Given the description of an element on the screen output the (x, y) to click on. 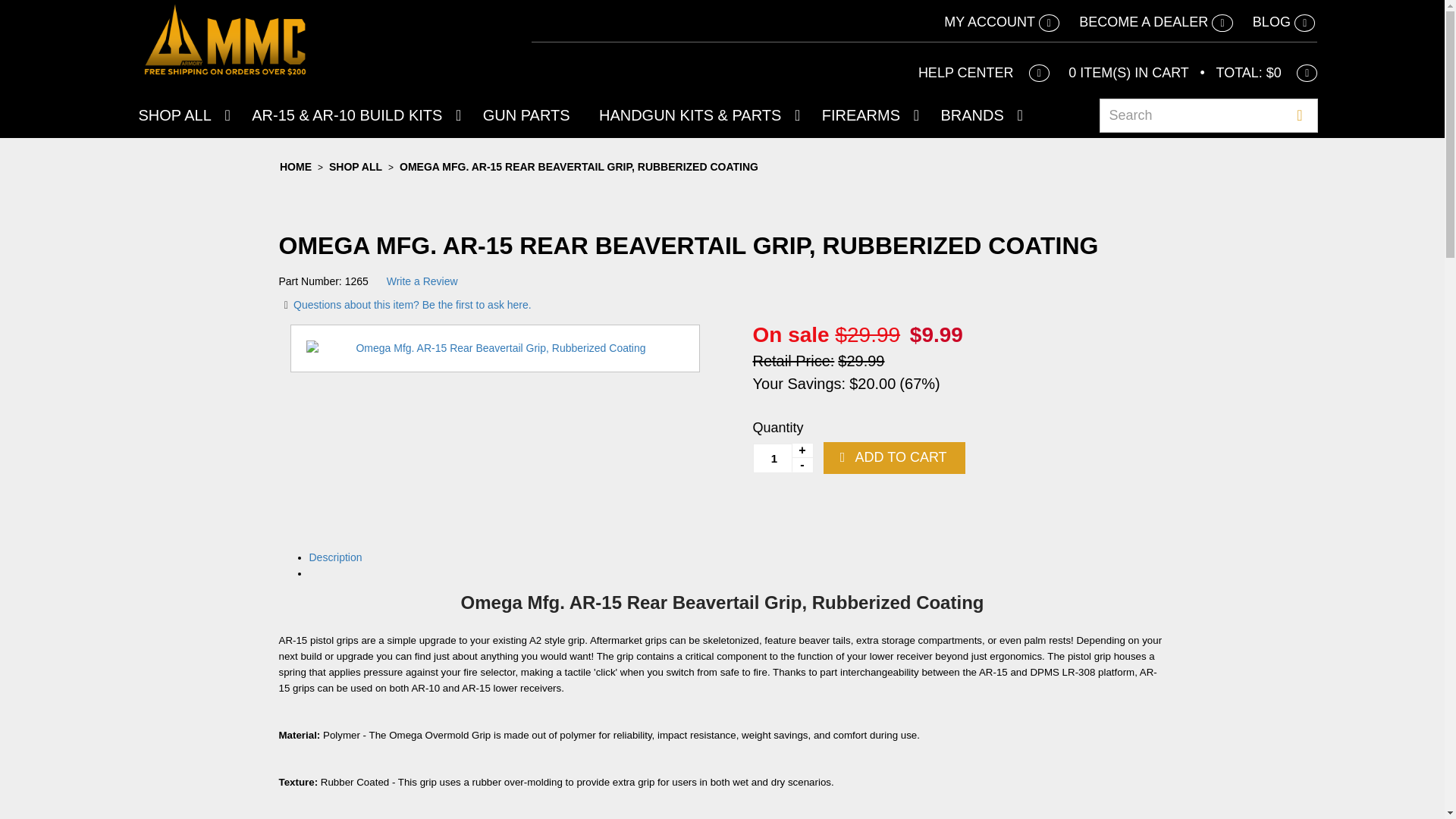
GUN PARTS (525, 115)
1 (782, 458)
BECOME A DEALER (1155, 22)
HELP CENTER (983, 72)
SHOP ALL (181, 115)
MY ACCOUNT (1001, 22)
BLOG (1284, 22)
